Given the description of an element on the screen output the (x, y) to click on. 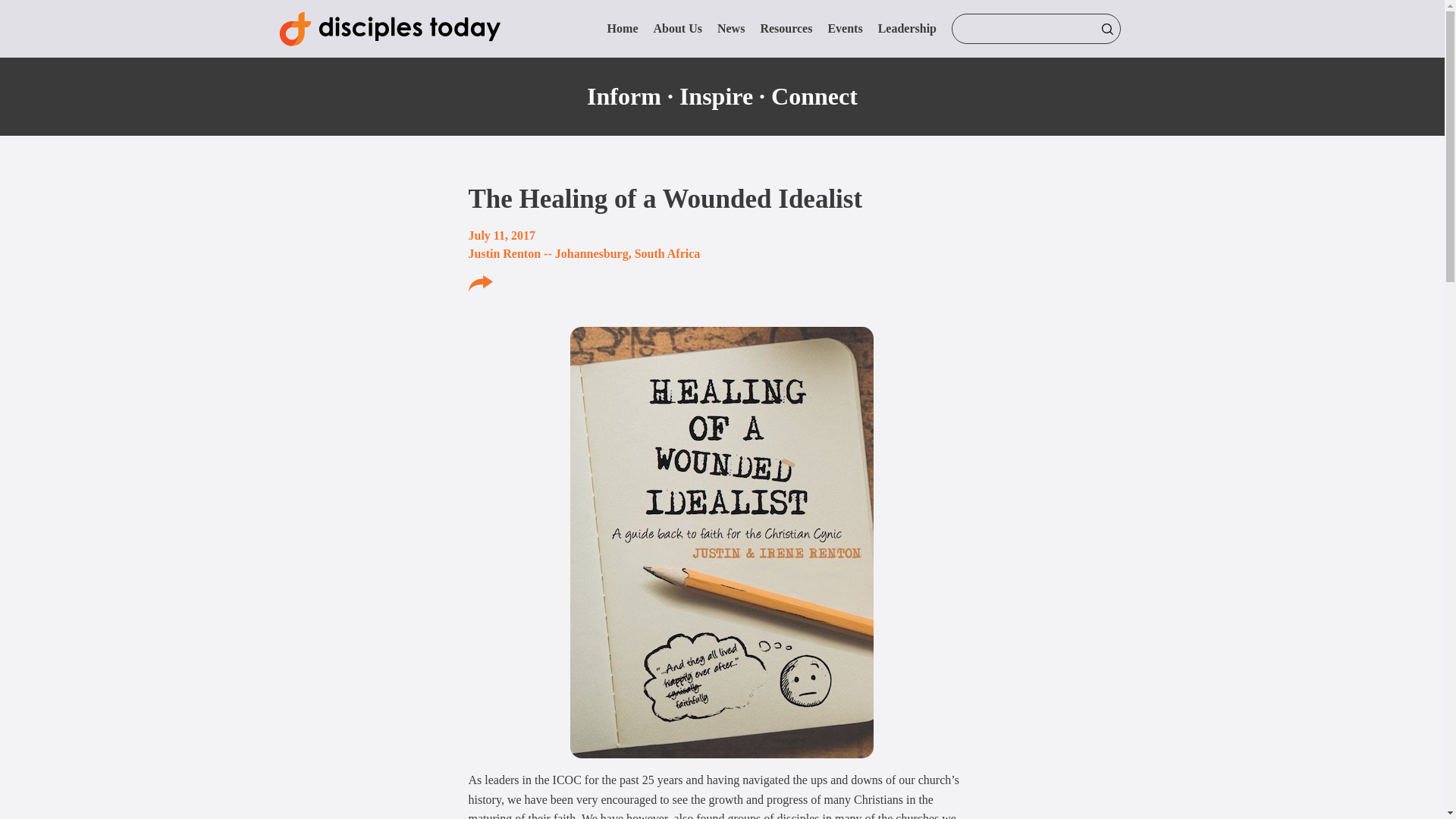
News (731, 28)
About Us (677, 28)
Resources (785, 28)
Home (622, 28)
Events (844, 28)
Leadership (906, 28)
